Given the description of an element on the screen output the (x, y) to click on. 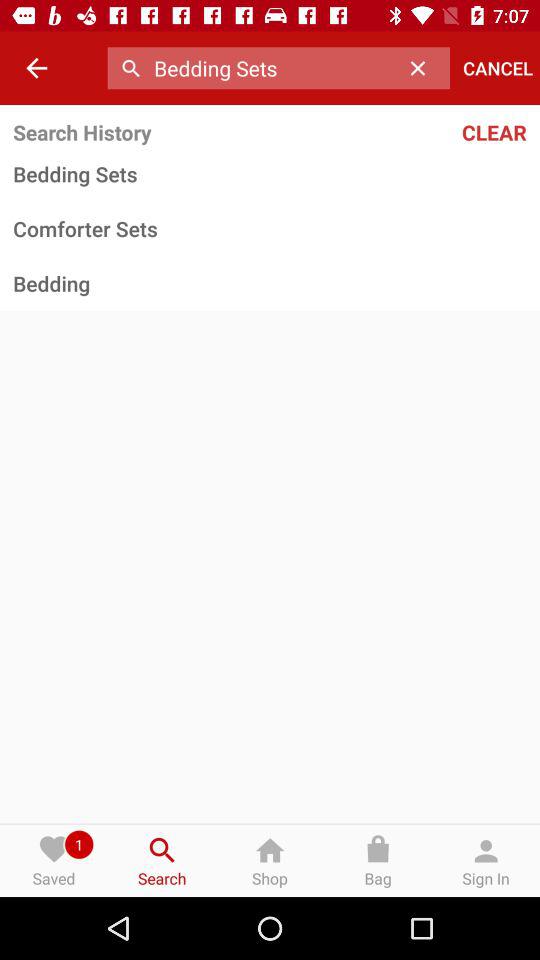
swipe to the clear icon (449, 132)
